Given the description of an element on the screen output the (x, y) to click on. 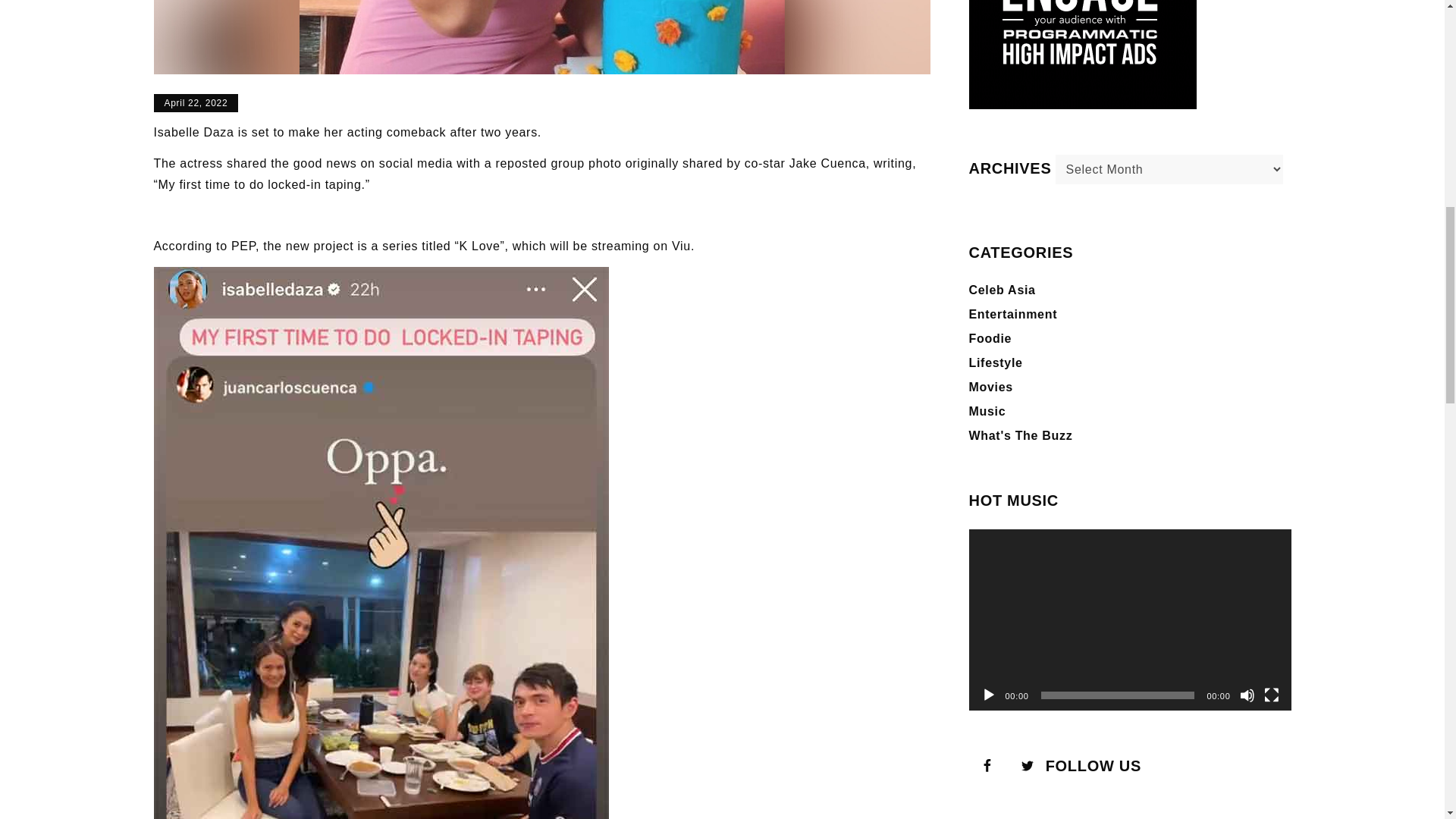
Mute (1246, 694)
Foodie (990, 338)
3rd party ad content (1082, 54)
Lifestyle (996, 362)
April 22, 2022 (195, 103)
Entertainment (1013, 314)
Play (988, 694)
Fullscreen (1270, 694)
Celeb Asia (1002, 289)
Movies (991, 386)
